Given the description of an element on the screen output the (x, y) to click on. 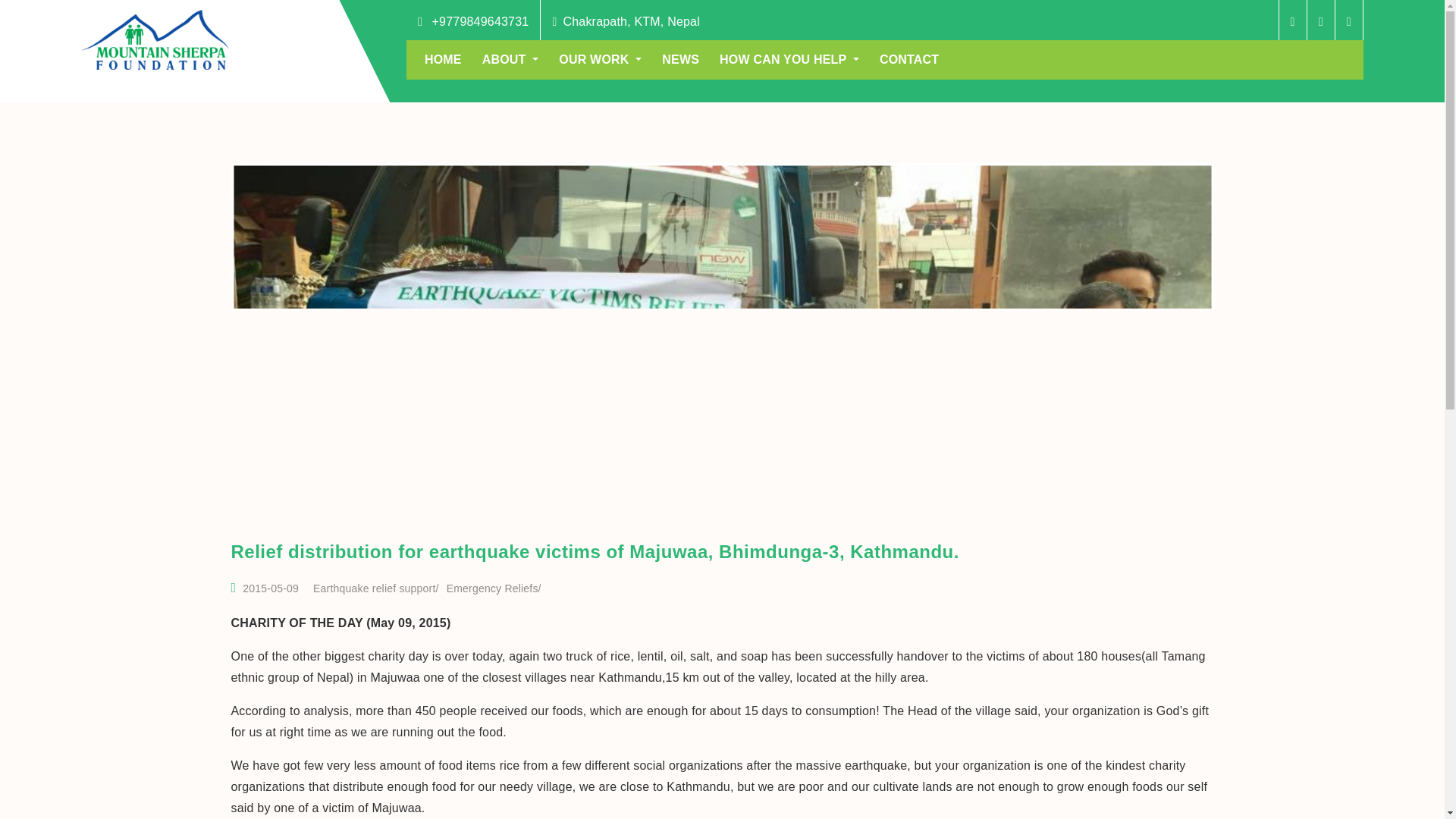
CONTACT (909, 59)
HOW CAN YOU HELP (789, 59)
HOME (443, 59)
NEWS (680, 59)
OUR WORK (600, 59)
ABOUT (509, 59)
